Given the description of an element on the screen output the (x, y) to click on. 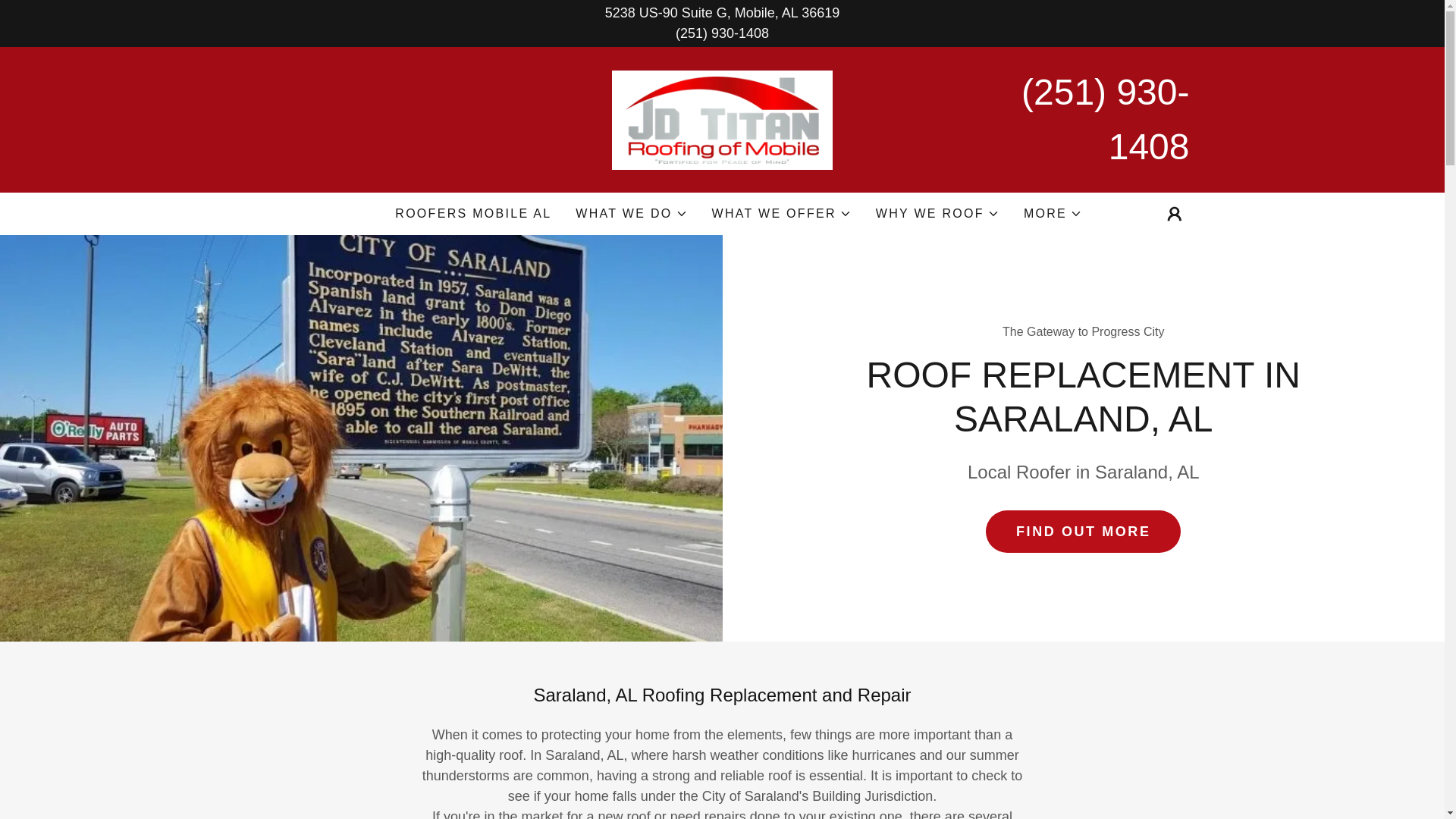
WHY WE ROOF (937, 213)
WHAT WE OFFER (781, 213)
MORE (1052, 213)
JD Titan Roofing (721, 118)
WHAT WE DO (631, 213)
ROOFERS MOBILE AL (473, 213)
